Given the description of an element on the screen output the (x, y) to click on. 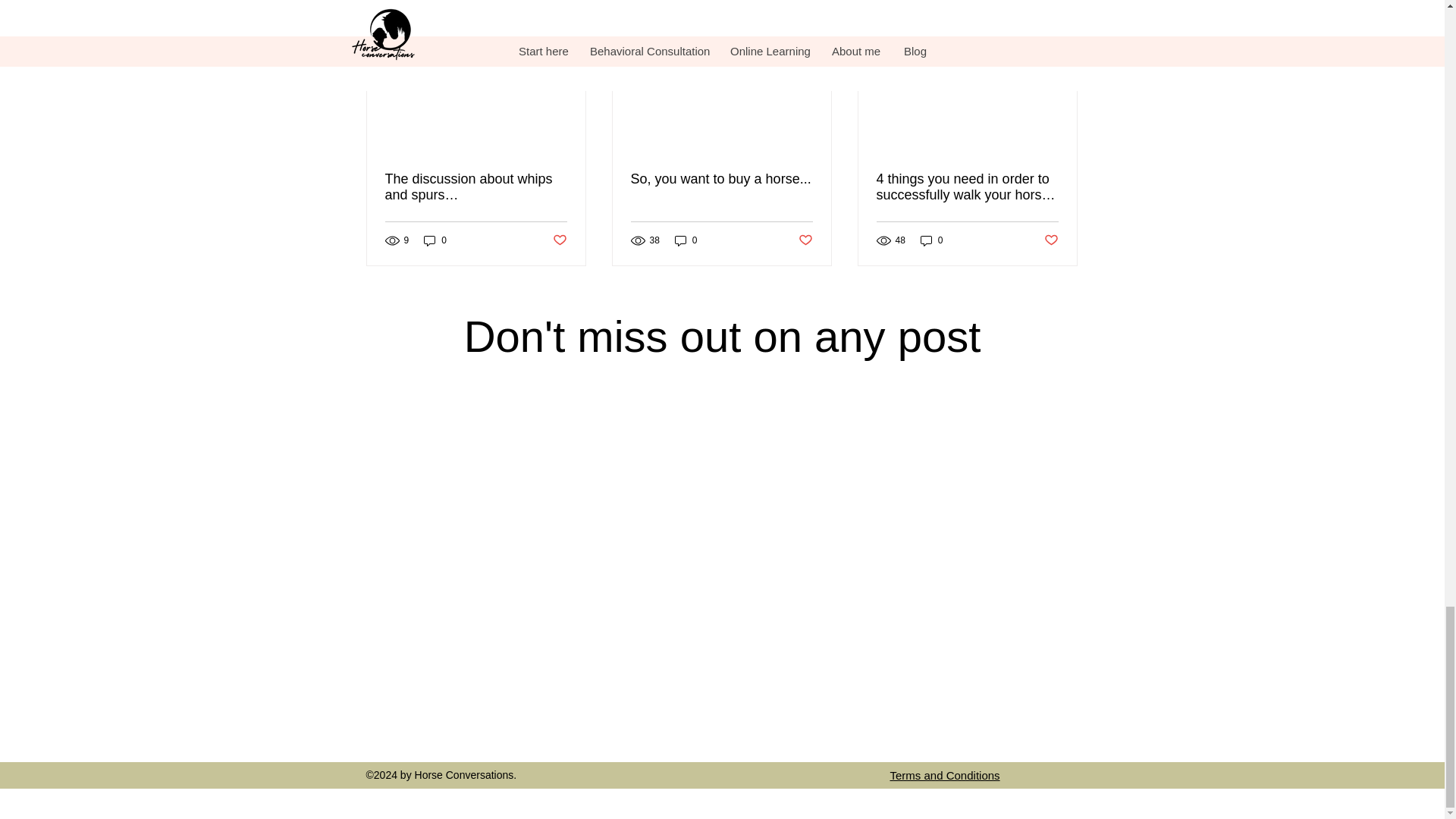
0 (435, 240)
Terms and Conditions (944, 775)
Post not marked as liked (558, 240)
Post not marked as liked (1050, 240)
Post not marked as liked (804, 240)
See All (1061, 7)
0 (931, 240)
So, you want to buy a horse... (721, 179)
0 (685, 240)
